Given the description of an element on the screen output the (x, y) to click on. 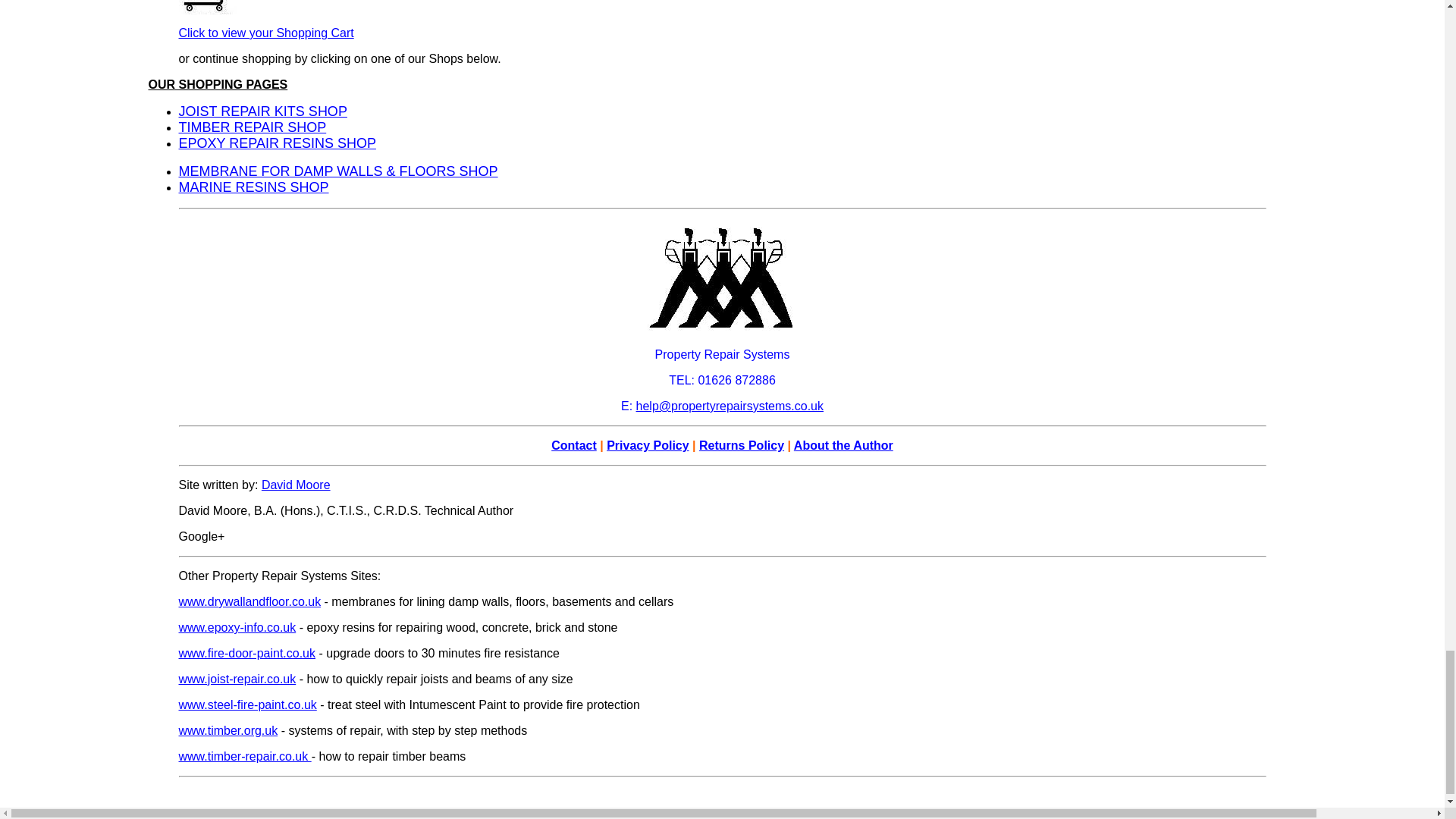
David Moore (296, 484)
JOIST REPAIR KITS SHOP (263, 111)
EPOXY REPAIR RESINS SHOP (277, 142)
Contact (573, 445)
TIMBER REPAIR SHOP (252, 127)
www.steel-fire-paint.co.uk (248, 704)
www.fire-door-paint.co.uk (247, 653)
www.epoxy-info.co.uk (238, 626)
Privacy Policy (647, 445)
www.timber-repair.co.uk (245, 756)
MARINE RESINS SHOP (254, 186)
Click to view your Shopping Cart (266, 32)
Returns Policy (741, 445)
About the Author (843, 445)
www.drywallandfloor.co.uk (250, 601)
